Given the description of an element on the screen output the (x, y) to click on. 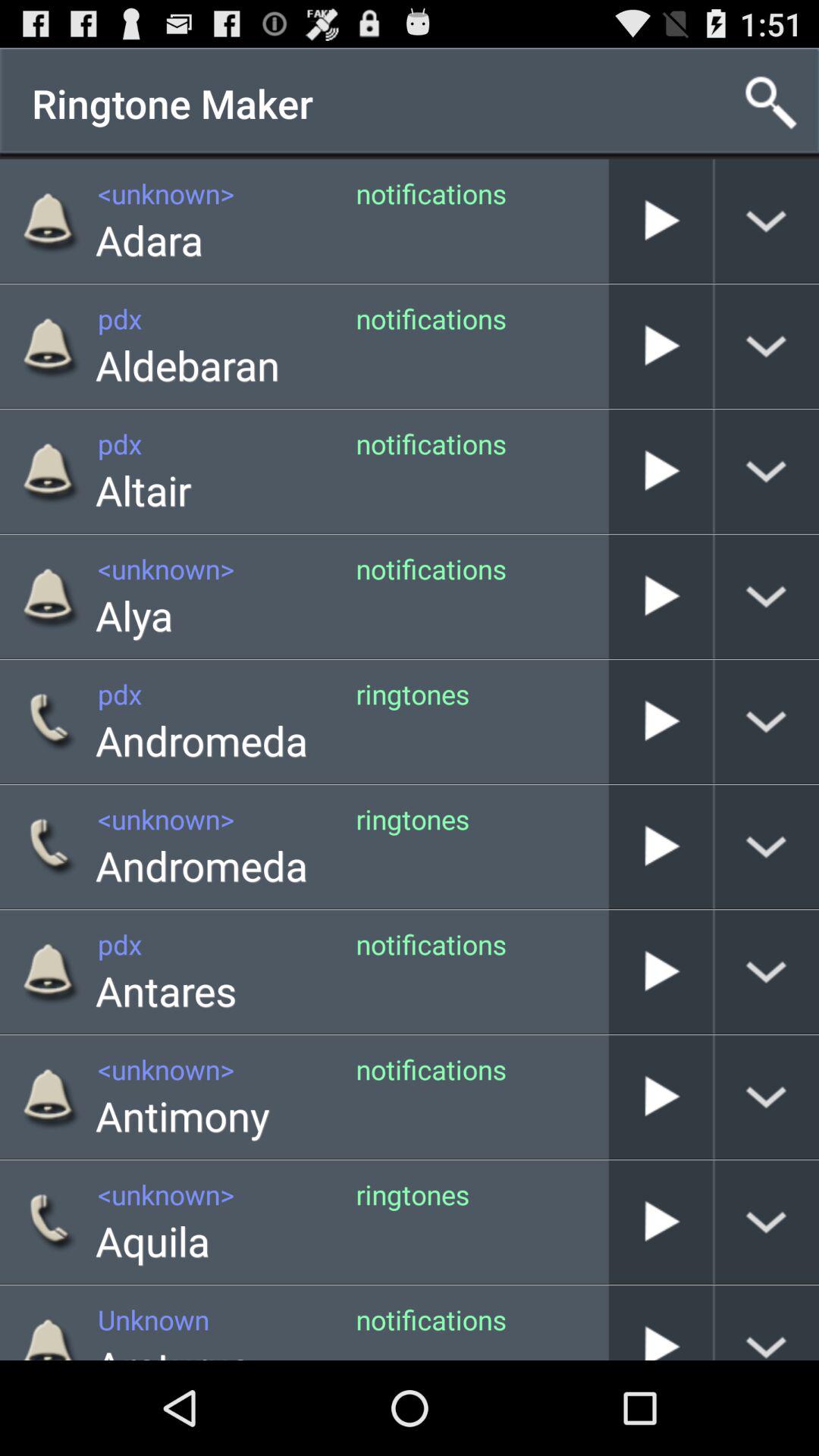
display call info (767, 846)
